Given the description of an element on the screen output the (x, y) to click on. 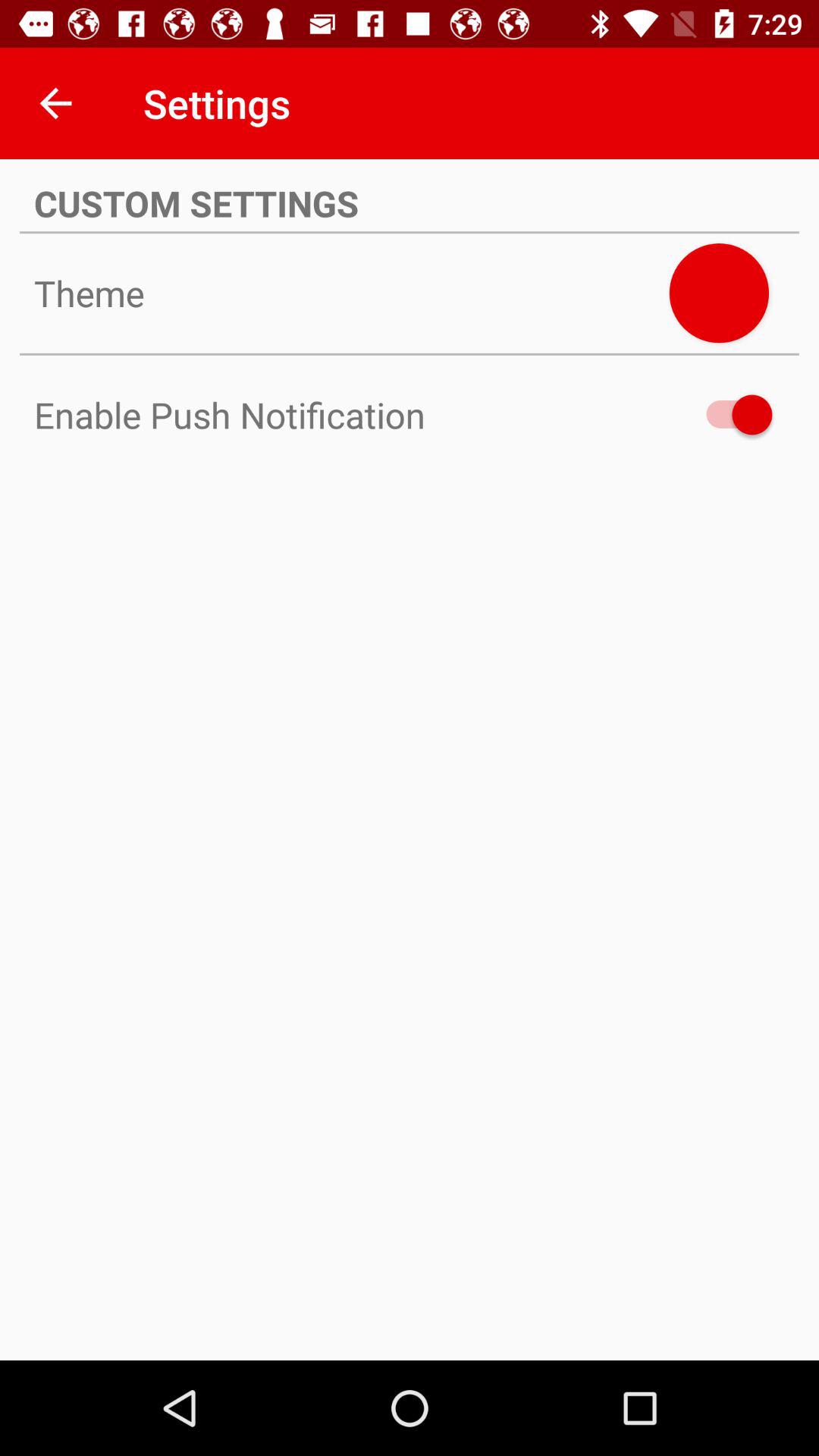
launch the icon to the right of the enable push notification (731, 414)
